Given the description of an element on the screen output the (x, y) to click on. 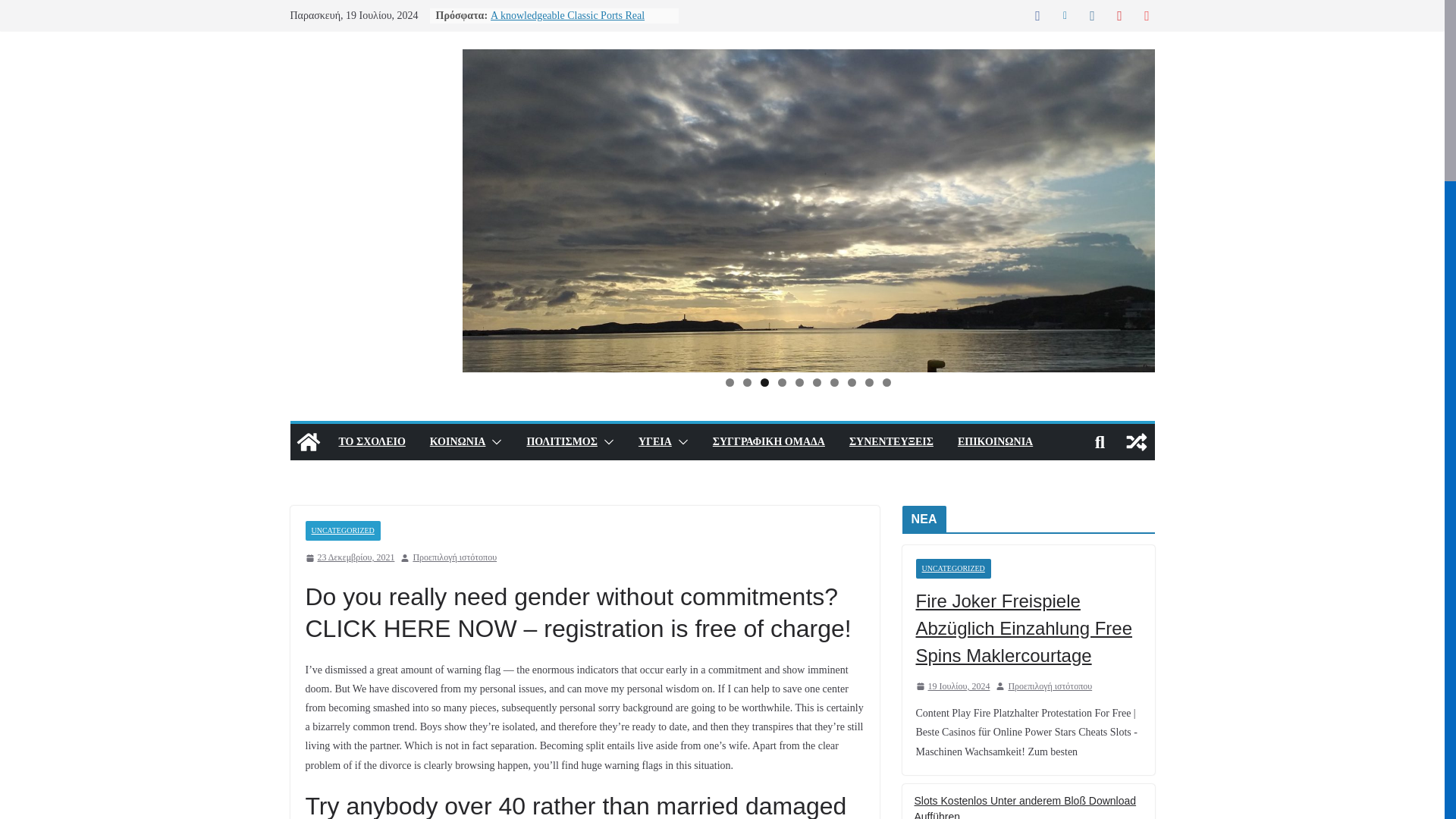
5 (798, 382)
3 (764, 382)
6 (816, 382)
9 (868, 382)
8 (851, 382)
1 (729, 382)
10 (886, 382)
2 (746, 382)
7 (833, 382)
4 (781, 382)
